Given the description of an element on the screen output the (x, y) to click on. 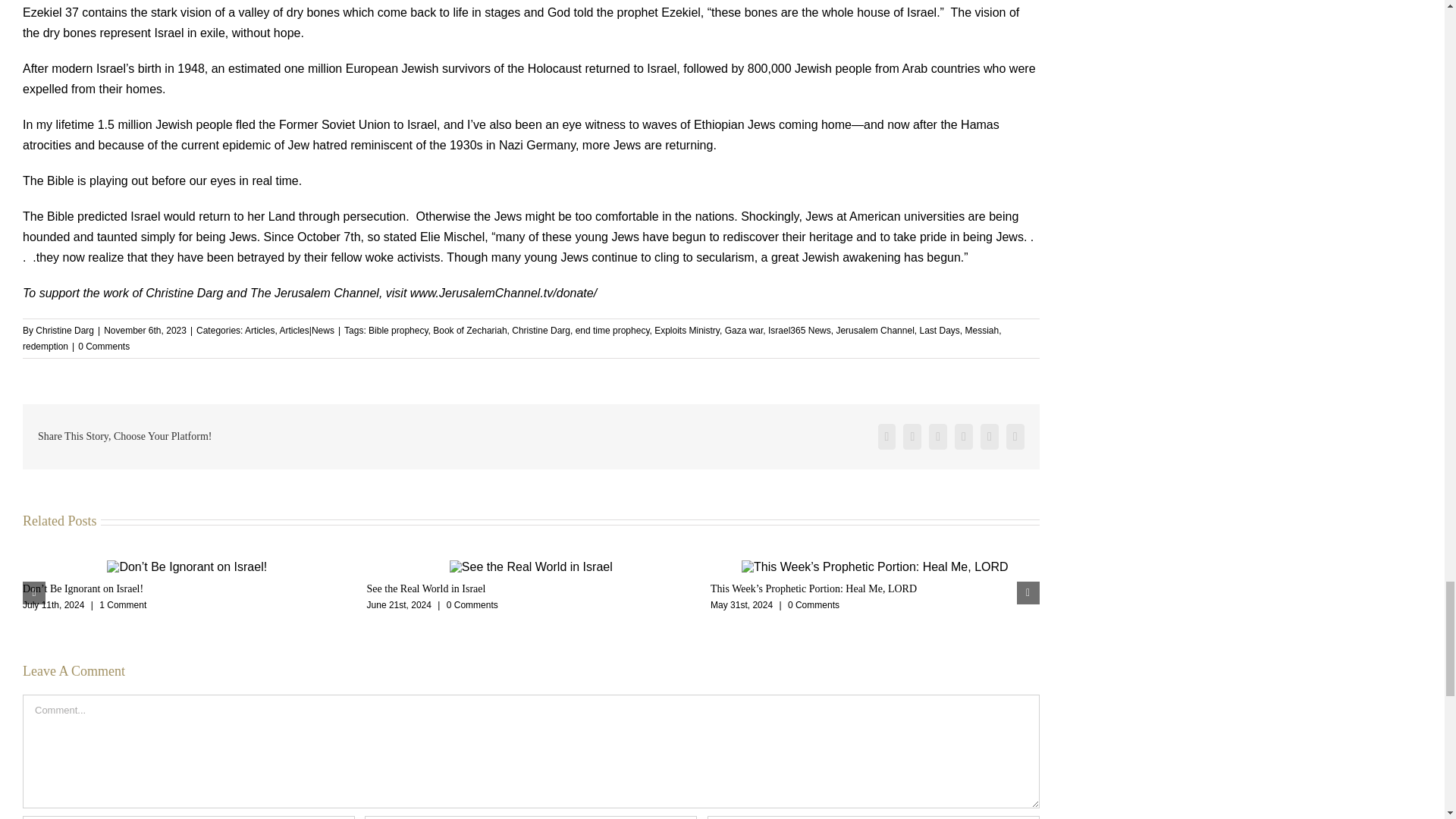
Posts by Christine Darg (64, 330)
Gaza war (743, 330)
Articles (259, 330)
end time prophecy (612, 330)
0 Comments (103, 346)
Jerusalem Channel (874, 330)
Christine Darg (541, 330)
Christine Darg (64, 330)
Israel365 News (799, 330)
Messiah (980, 330)
redemption (45, 346)
Book of Zechariah (469, 330)
Bible prophecy (398, 330)
Last Days (938, 330)
Exploits Ministry (686, 330)
